Given the description of an element on the screen output the (x, y) to click on. 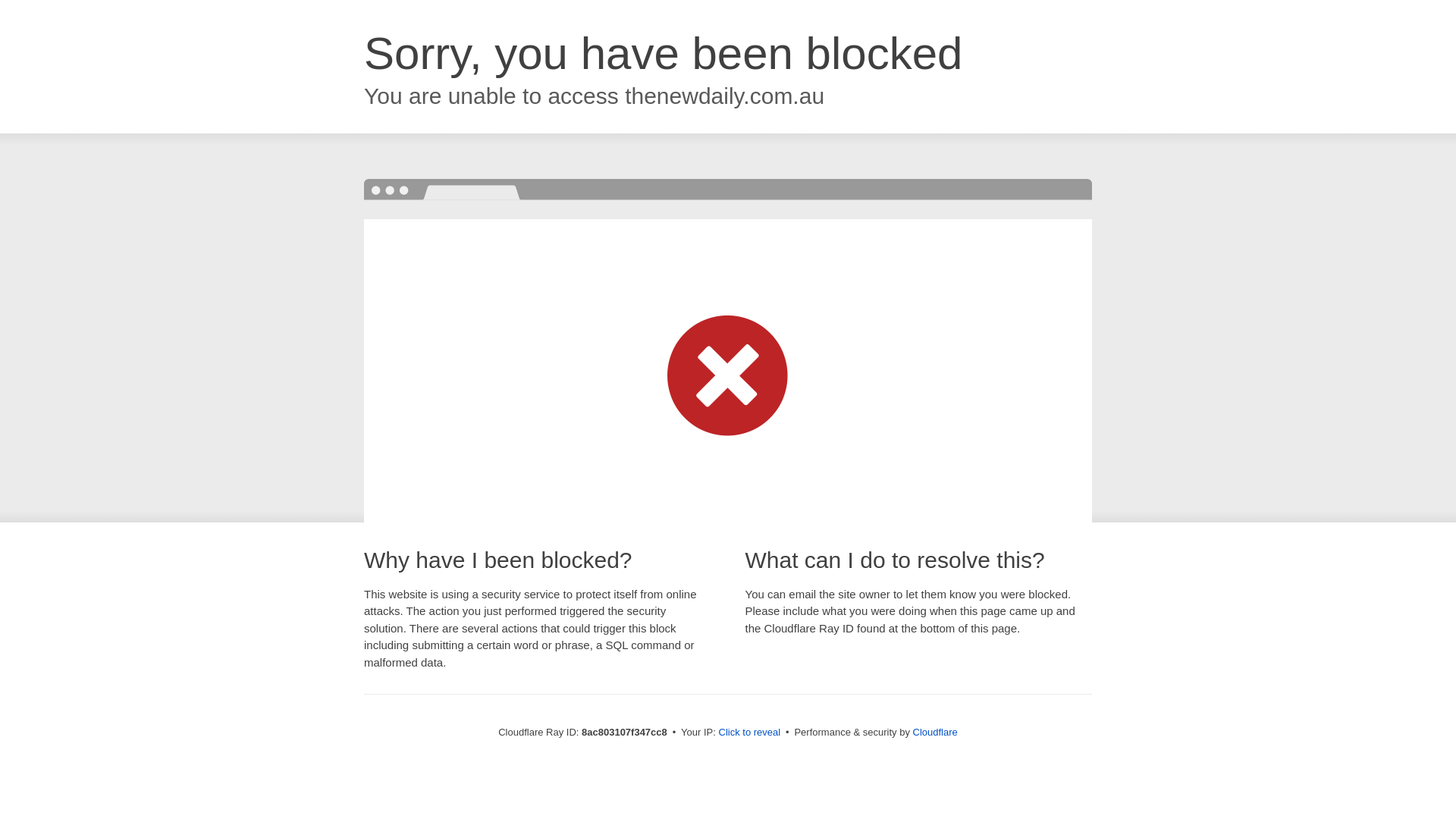
Cloudflare (935, 731)
Click to reveal (749, 732)
